Given the description of an element on the screen output the (x, y) to click on. 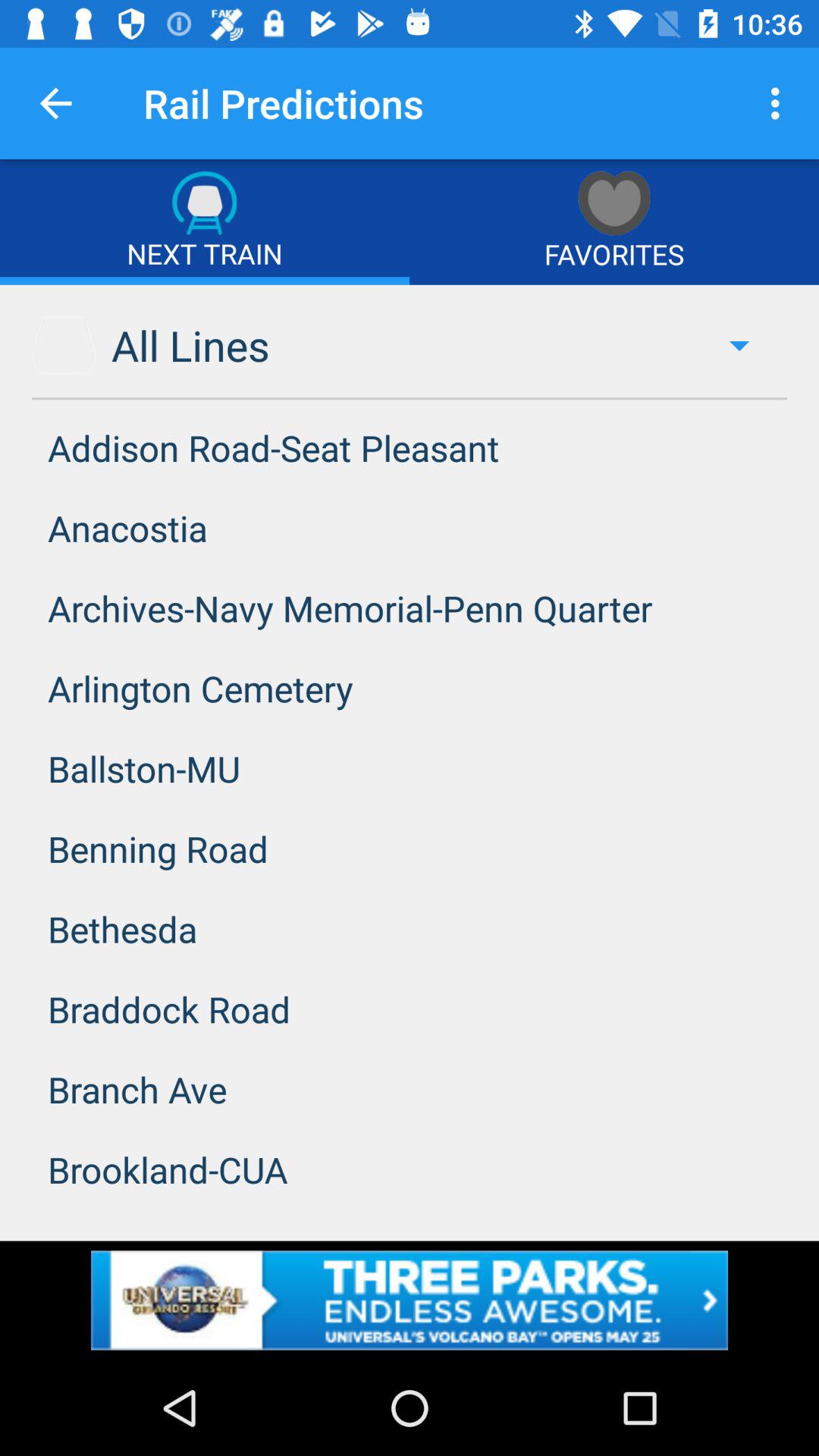
visit advertised website (409, 1300)
